Given the description of an element on the screen output the (x, y) to click on. 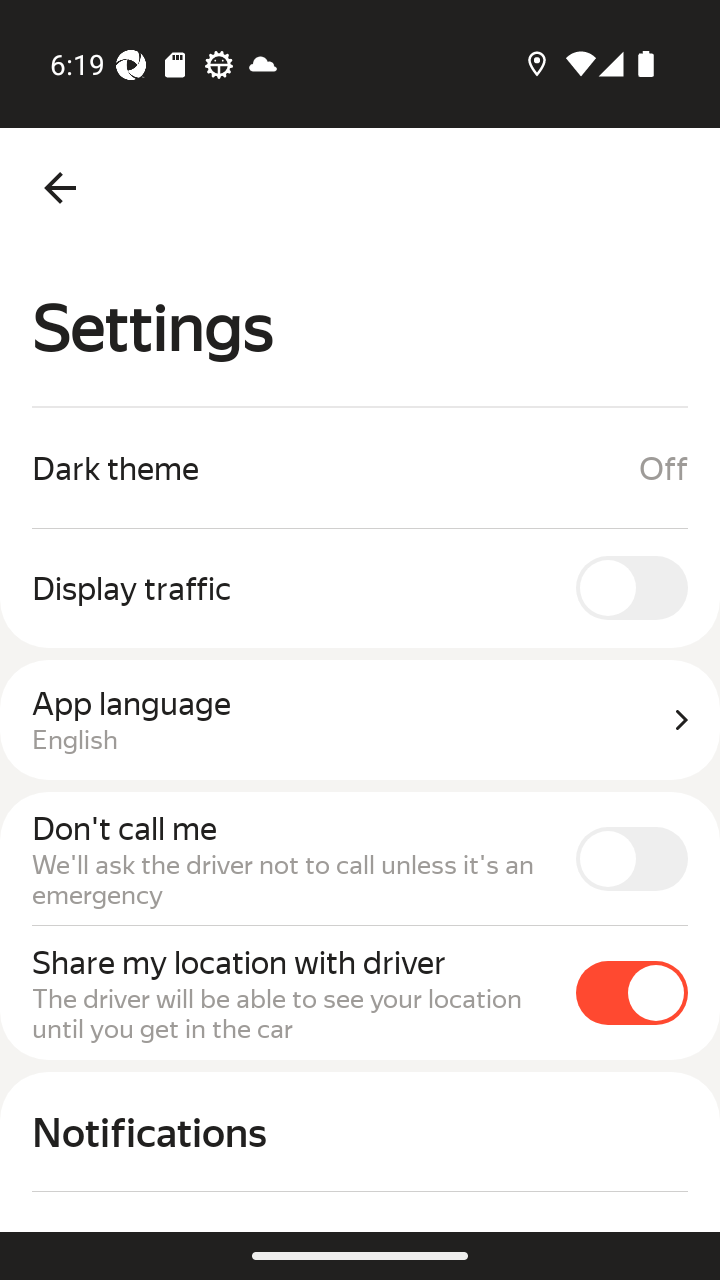
Back (60, 188)
Dark theme Dark theme Off Off (360, 467)
Display traffic (360, 587)
App language, English App language English (360, 719)
